Given the description of an element on the screen output the (x, y) to click on. 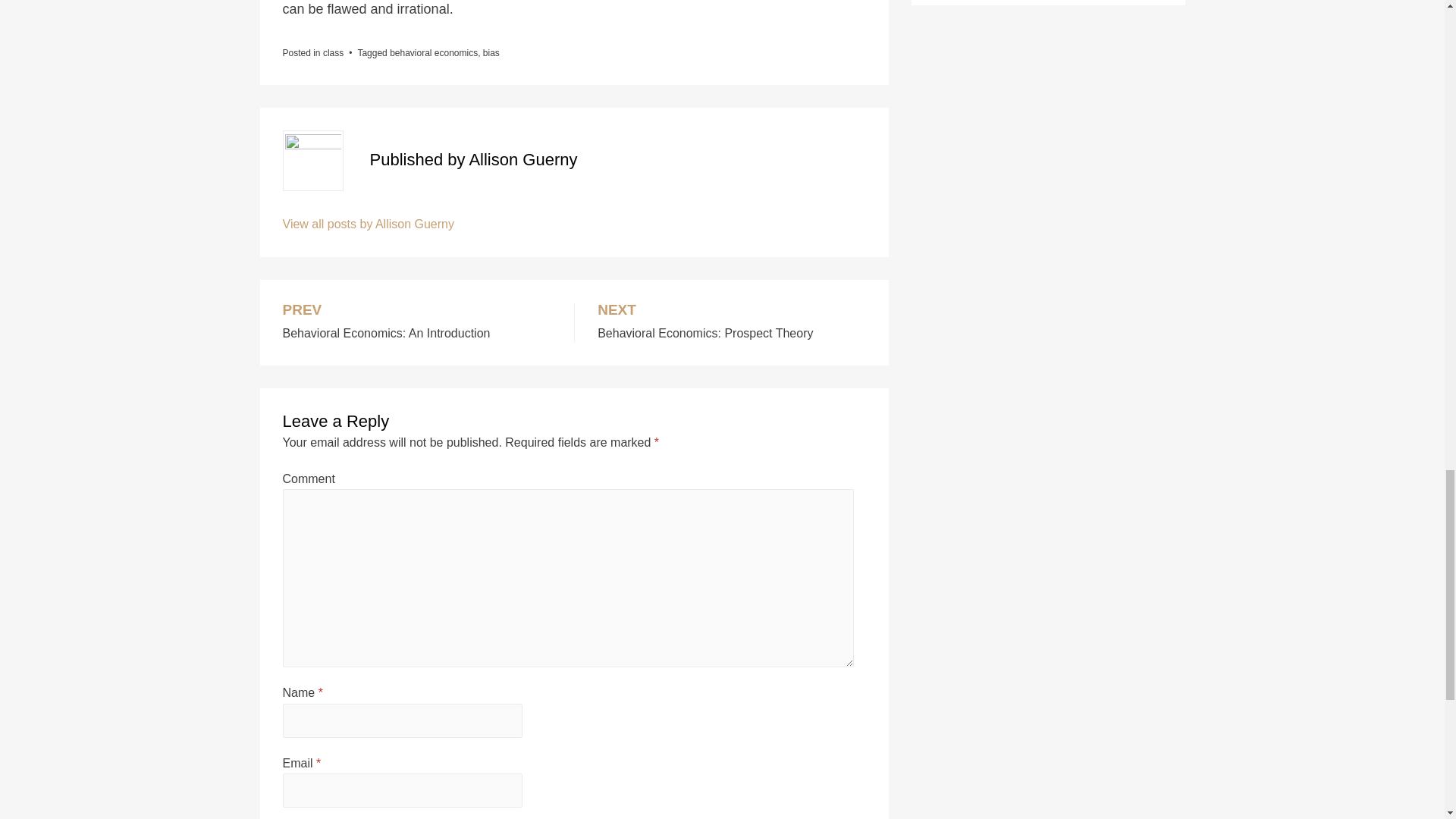
class (416, 322)
View all posts by Allison Guerny (333, 52)
behavioral economics (731, 322)
bias (367, 223)
